Given the description of an element on the screen output the (x, y) to click on. 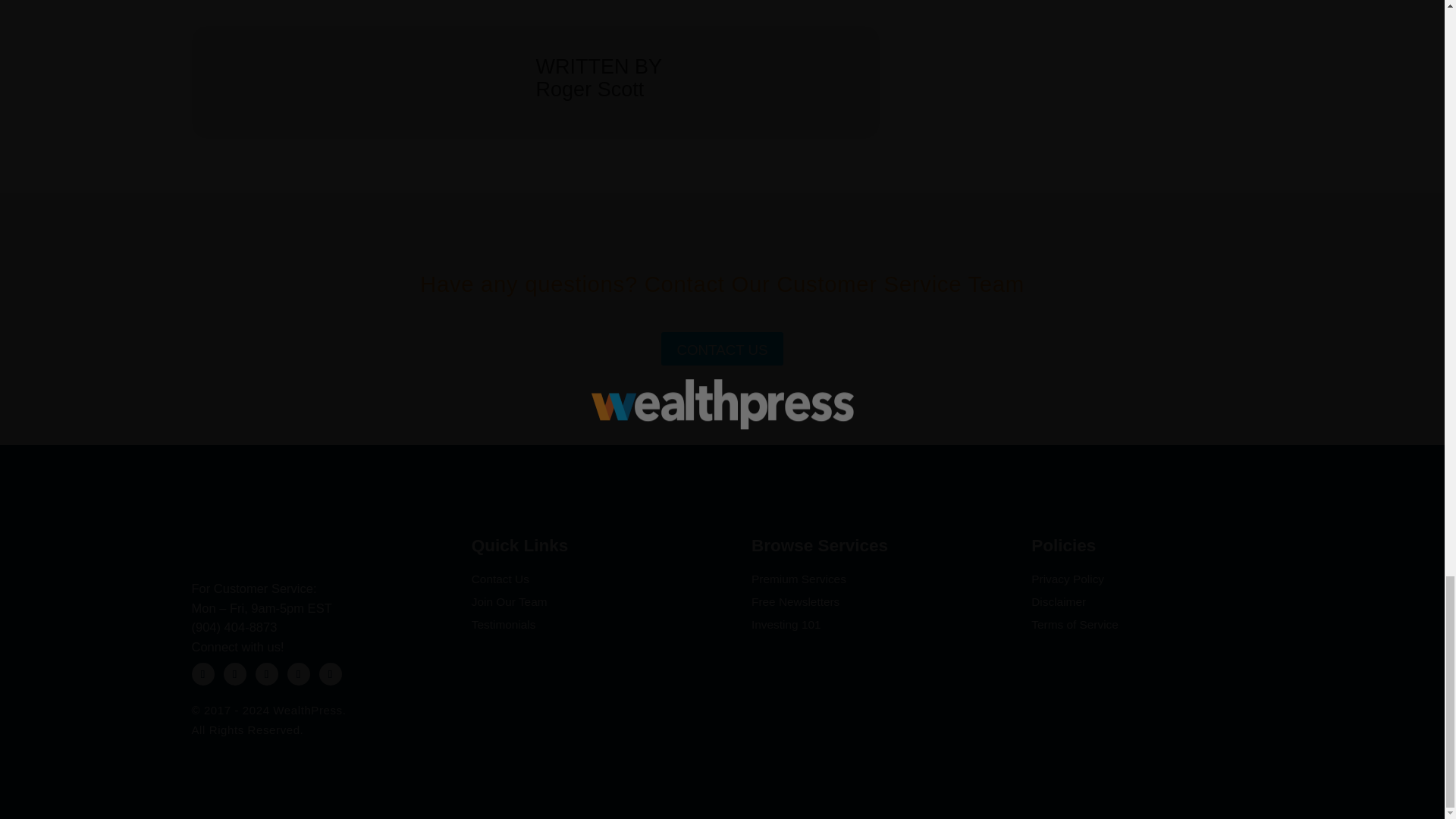
Follow on Twitter (234, 673)
Follow on Facebook (297, 673)
Follow on Instagram (202, 673)
Follow on LinkedIn (266, 673)
Follow on Youtube (329, 673)
